Given the description of an element on the screen output the (x, y) to click on. 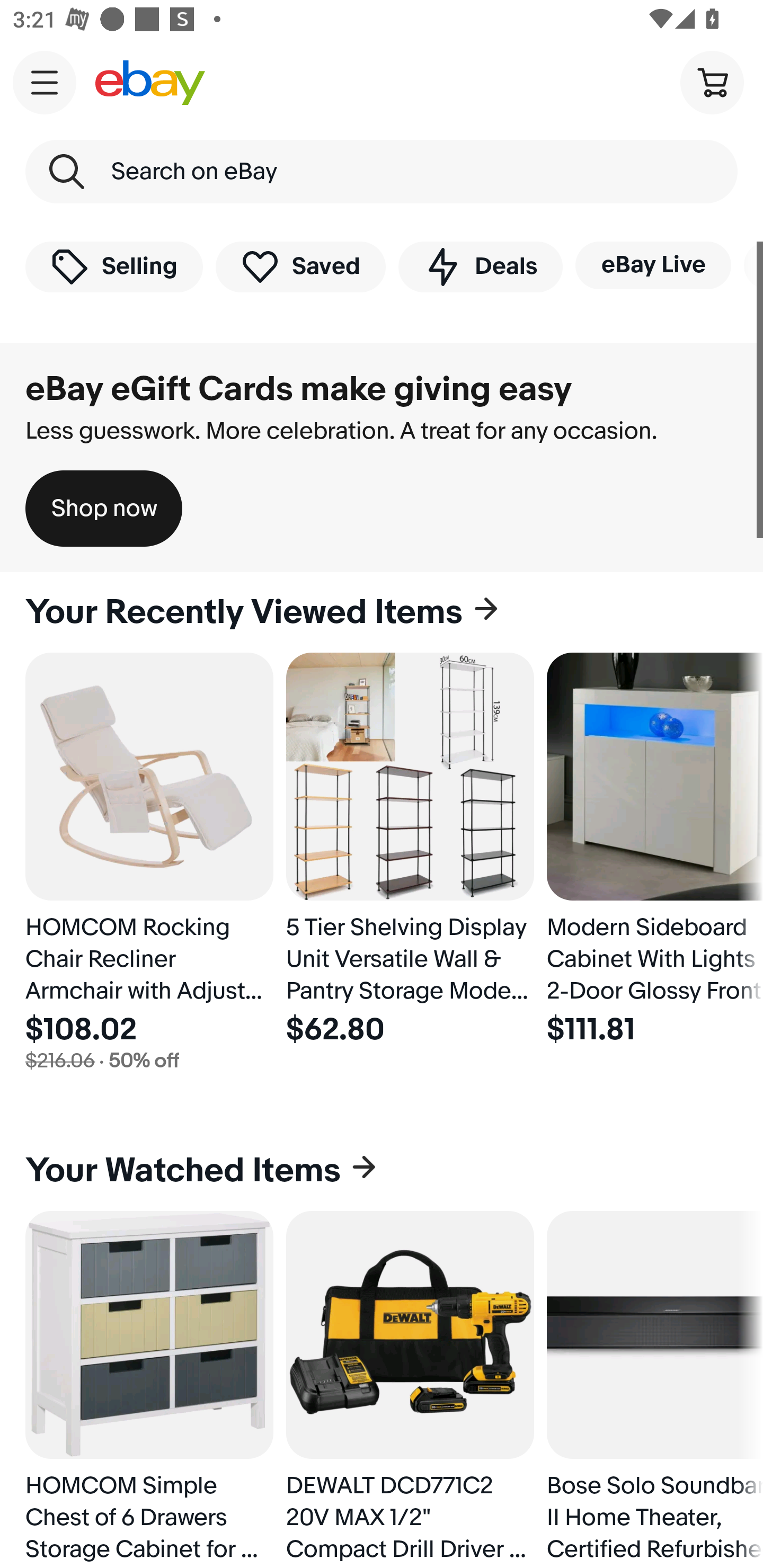
Main navigation, open (44, 82)
Cart button shopping cart (711, 81)
Search on eBay Search Keyword Search on eBay (381, 171)
Selling (113, 266)
Saved (300, 266)
Deals (480, 266)
eBay Live (652, 264)
eBay eGift Cards make giving easy (298, 389)
Shop now (103, 508)
Your Recently Viewed Items   (381, 612)
Your Watched Items   (381, 1170)
